Given the description of an element on the screen output the (x, y) to click on. 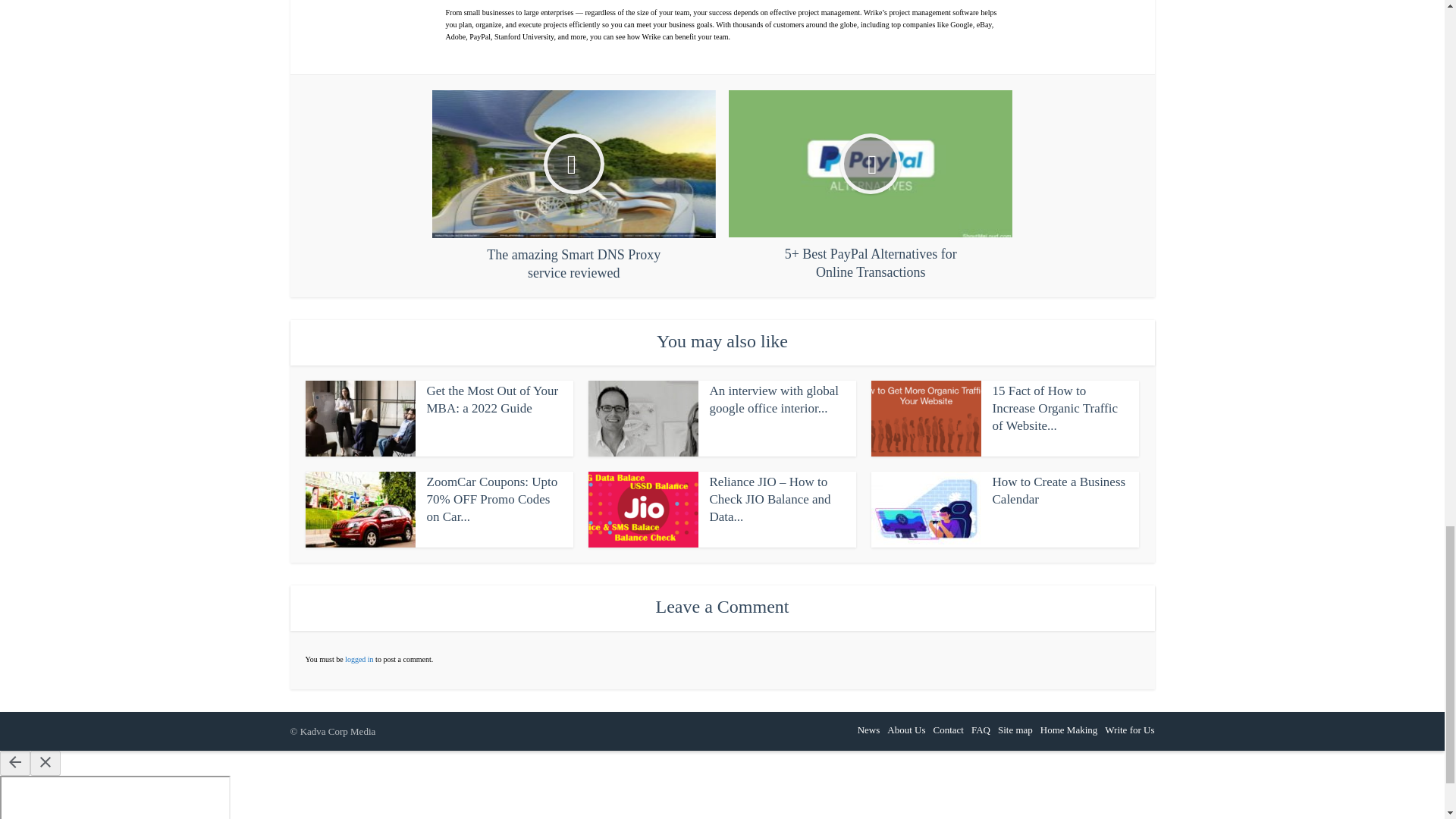
The amazing Smart DNS Proxy service reviewed (574, 185)
An interview with global google office interior... (774, 399)
Get the Most Out of Your MBA: a 2022 Guide (491, 399)
15 Fact of How to Increase Organic Traffic of Website... (1054, 408)
Get the Most Out of Your MBA: a 2022 Guide (491, 399)
